Given the description of an element on the screen output the (x, y) to click on. 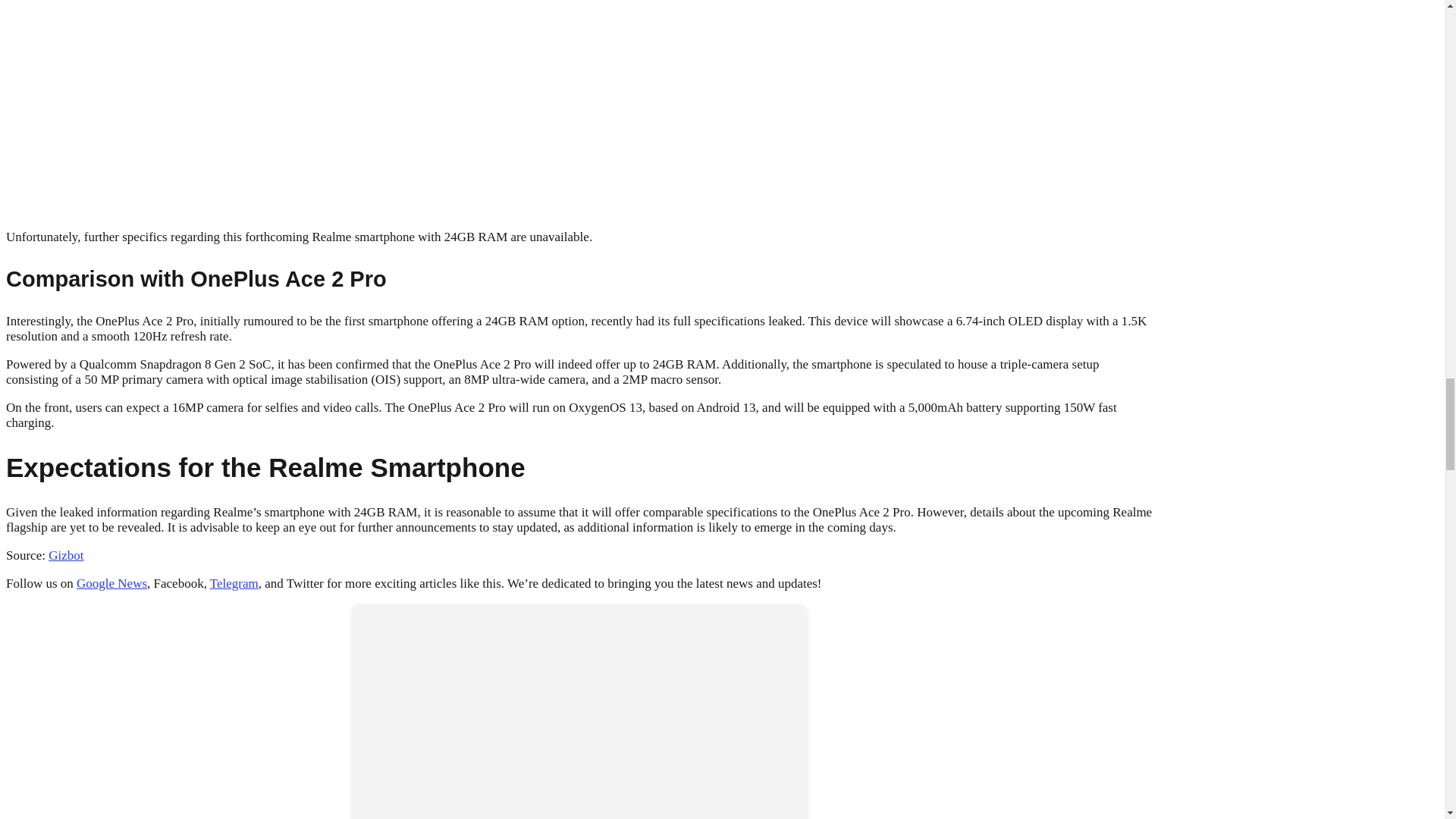
Gizbot (65, 554)
Telegram (234, 583)
Google News (112, 583)
